Given the description of an element on the screen output the (x, y) to click on. 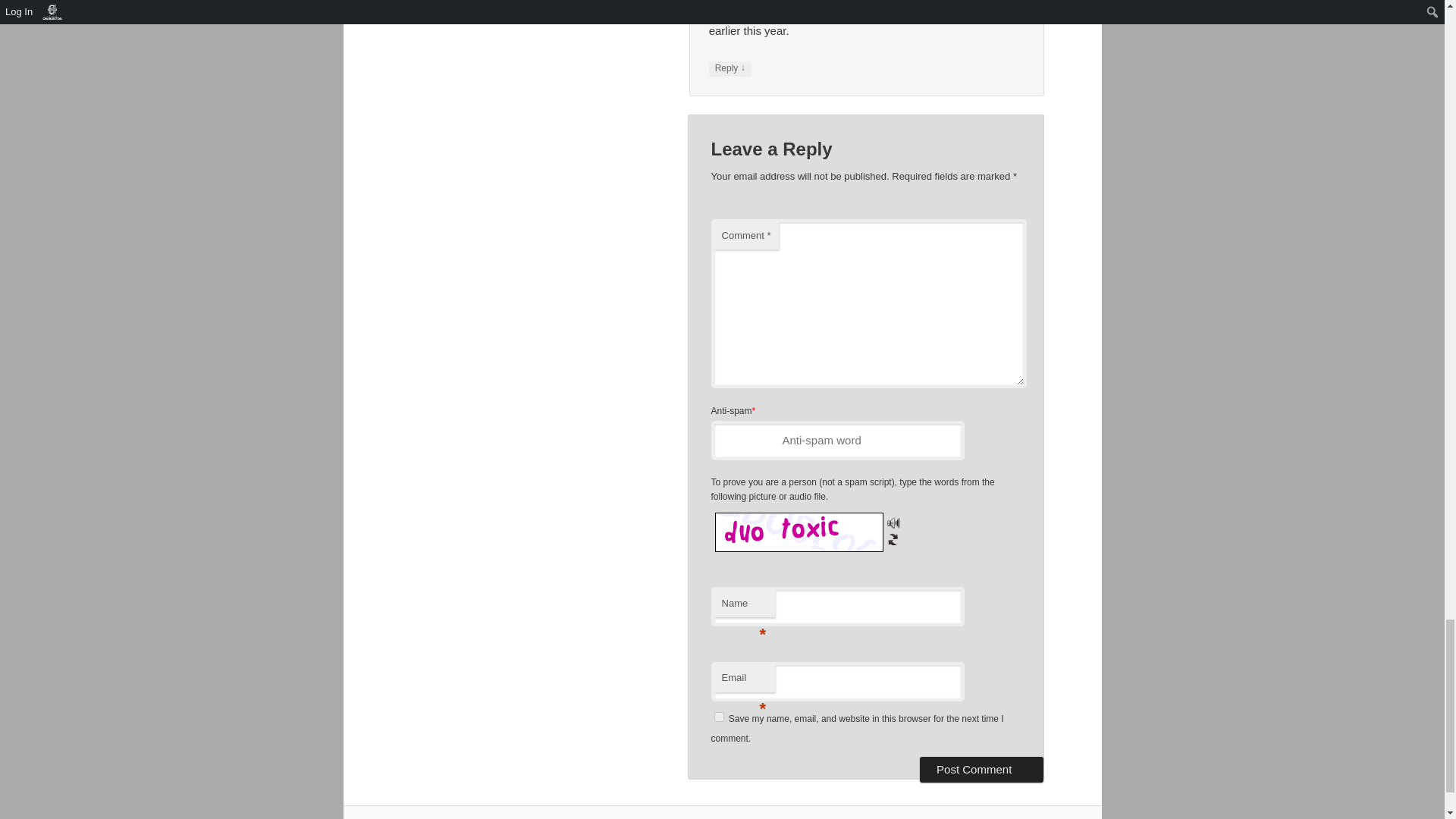
Load new (892, 538)
yes (718, 716)
Listen (892, 522)
Post Comment (981, 769)
Post Comment (981, 769)
